Given the description of an element on the screen output the (x, y) to click on. 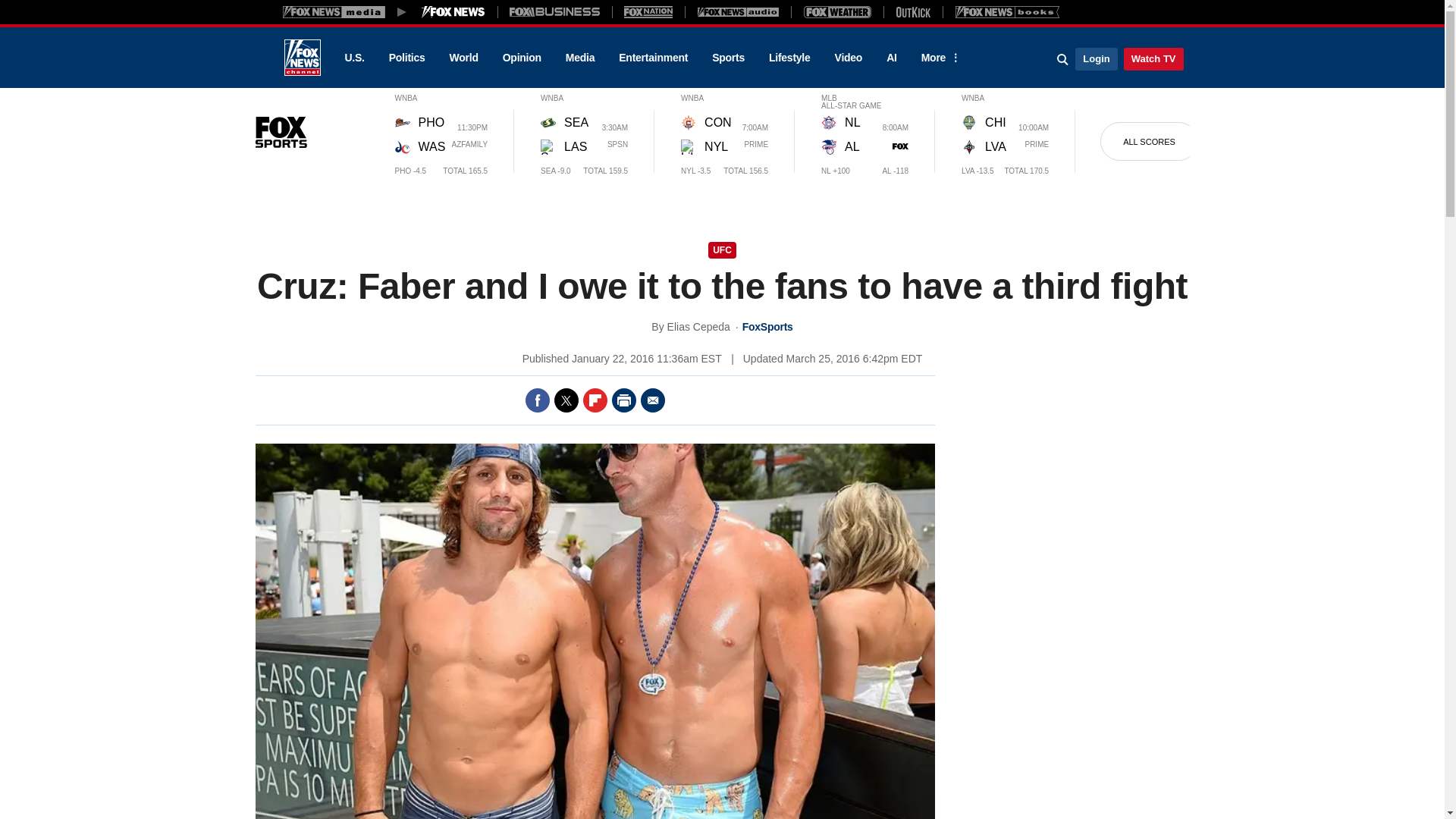
Entertainment (653, 57)
U.S. (353, 57)
AI (891, 57)
Sports (728, 57)
Fox Nation (648, 11)
Fox News Audio (737, 11)
Fox Weather (836, 11)
Video (848, 57)
Watch TV (1153, 58)
Login (1095, 58)
Books (1007, 11)
Outkick (912, 11)
More (938, 57)
Fox News (301, 57)
Lifestyle (789, 57)
